Given the description of an element on the screen output the (x, y) to click on. 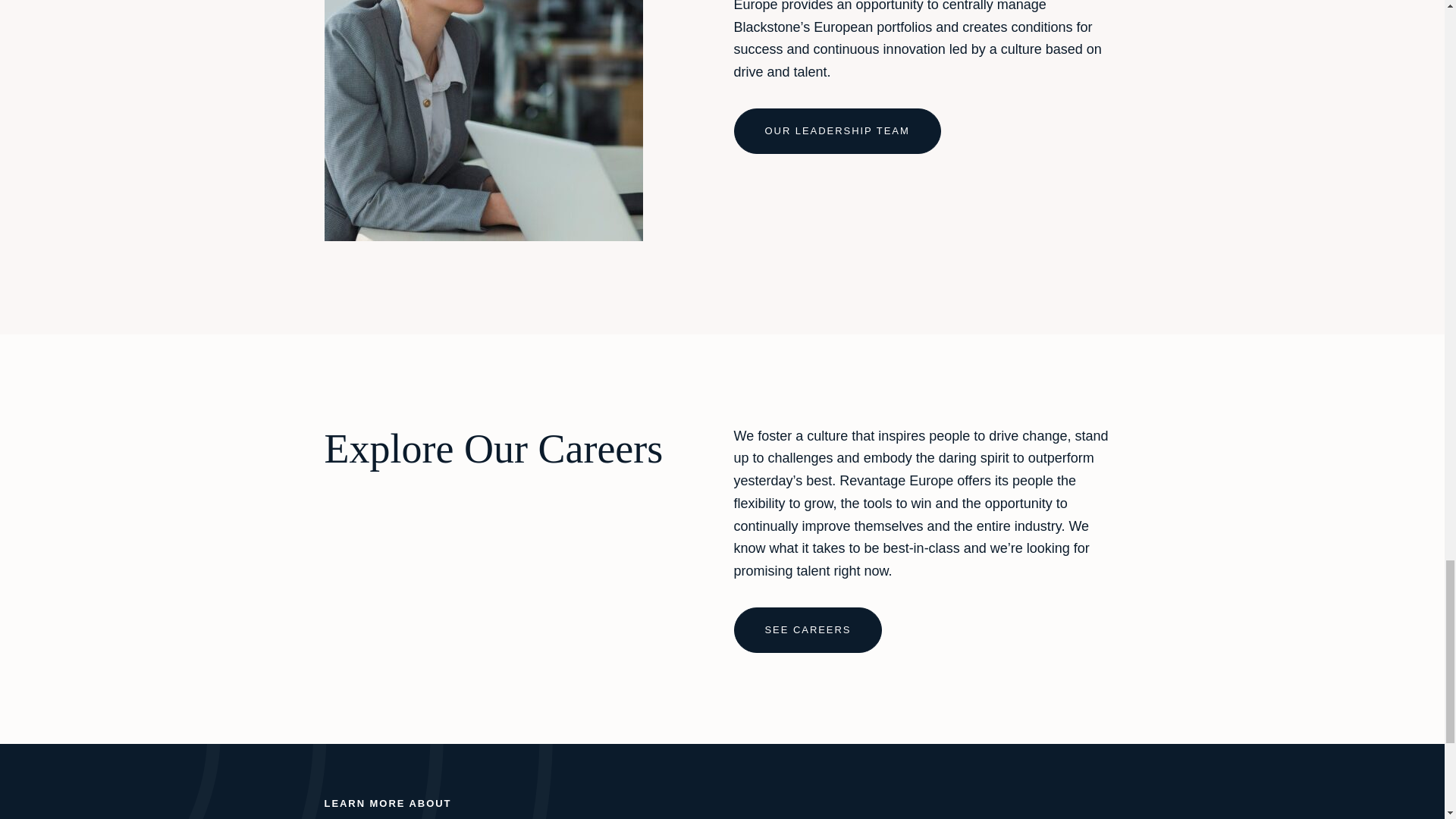
OUR LEADERSHIP TEAM (836, 130)
SEE CAREERS (807, 629)
